Given the description of an element on the screen output the (x, y) to click on. 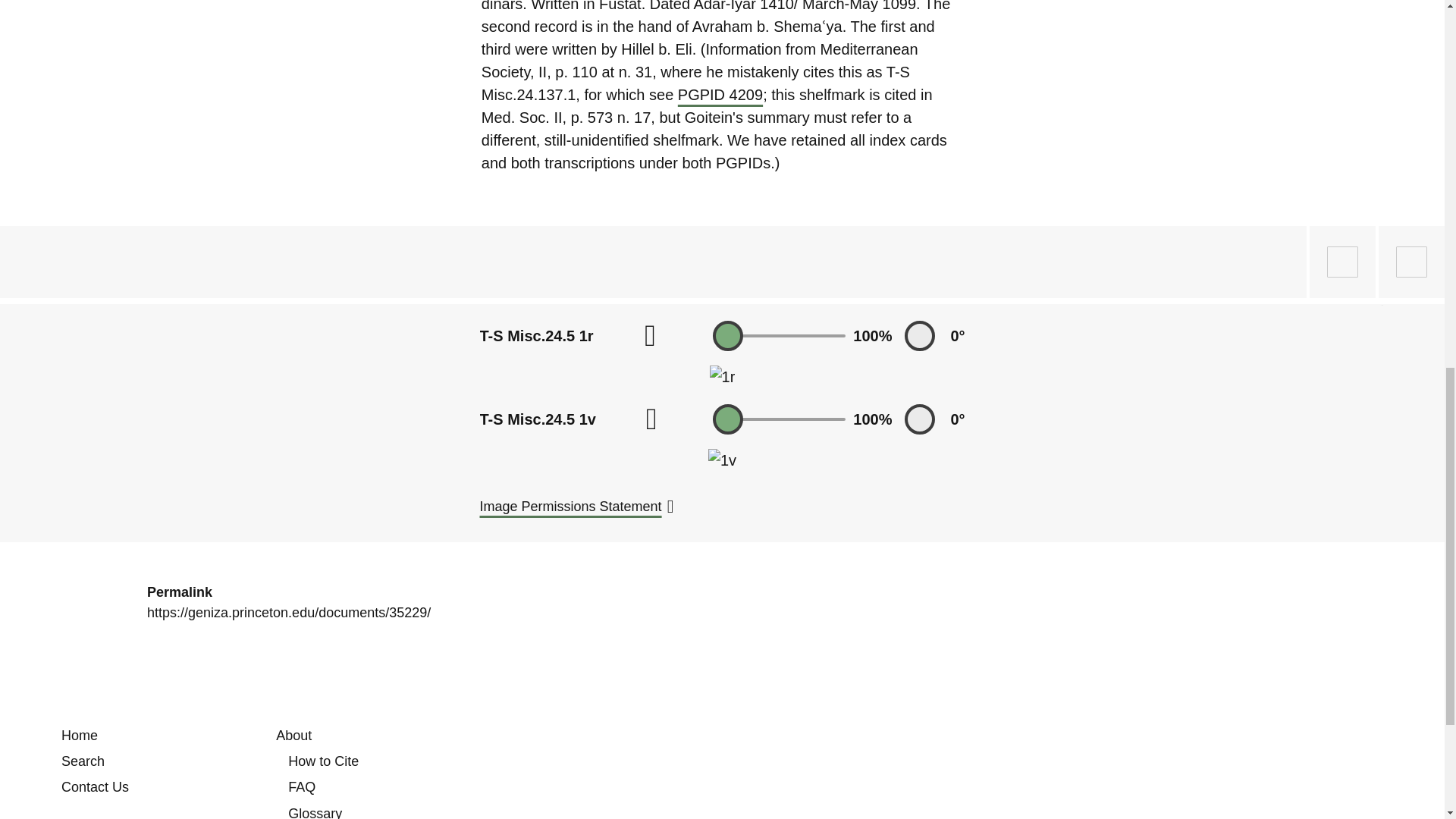
Glossary (315, 812)
FAQ (301, 786)
PGPID 4209 (720, 94)
Search (82, 761)
1r (722, 376)
1v (721, 459)
1 (779, 418)
Contact Us (95, 786)
Home (79, 735)
1 (779, 335)
How to Cite (323, 761)
